Given the description of an element on the screen output the (x, y) to click on. 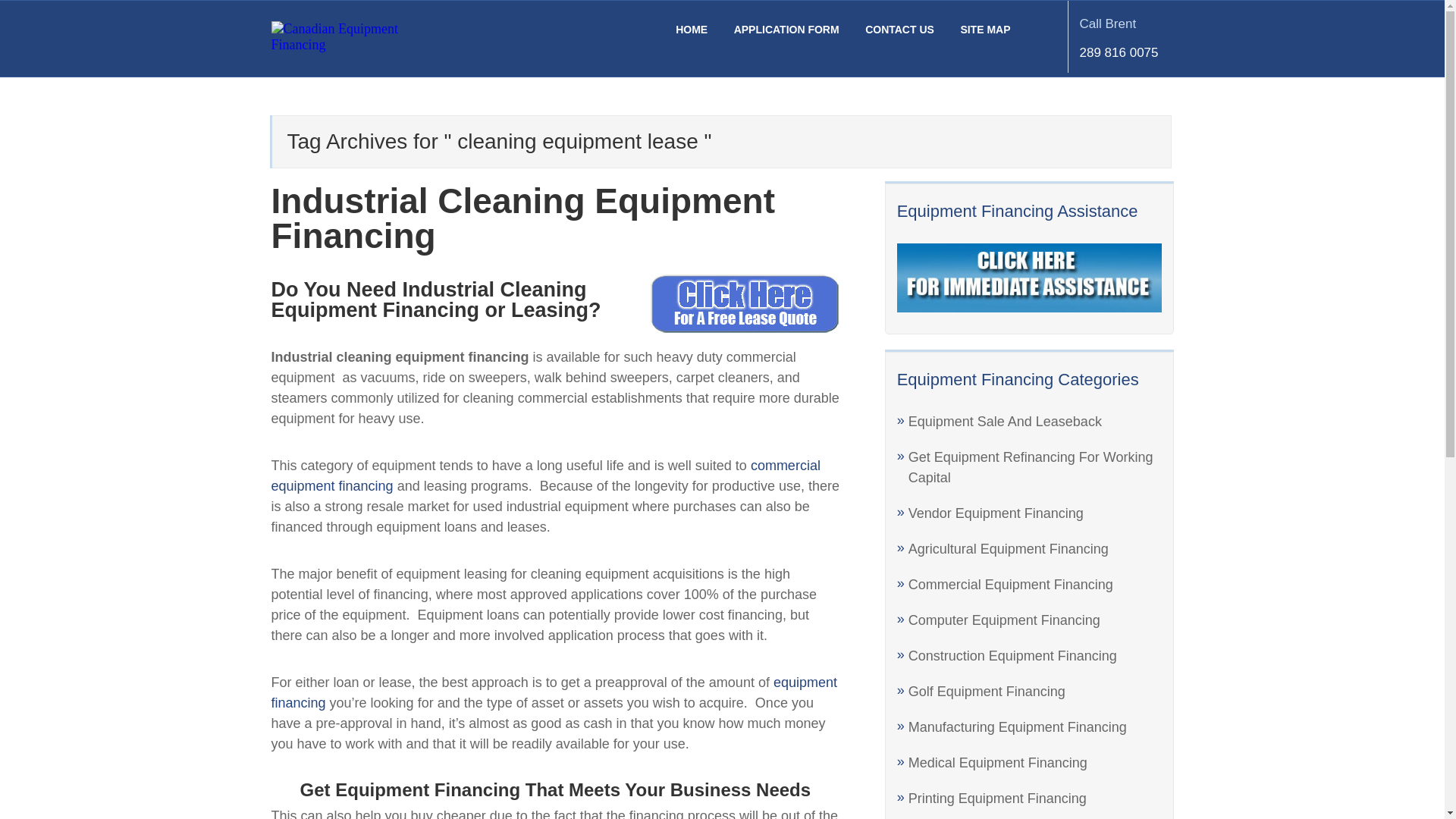
Computer Equipment Financing (1004, 620)
Commercial Equipment Financing (1010, 584)
Vendor Equipment Financing (995, 513)
Get Equipment Refinancing For Working Capital (1030, 467)
commercial equipment financing (545, 475)
Industrial Cleaning Equipment Financing (1097, 36)
CONTACT US (522, 217)
equipment financing (899, 29)
Golf Equipment Financing (553, 692)
SITE MAP (986, 691)
Construction Equipment Financing (984, 29)
Printing Equipment Financing (1012, 655)
Equipment Sale And Leaseback (997, 798)
APPLICATION FORM (1005, 421)
